Given the description of an element on the screen output the (x, y) to click on. 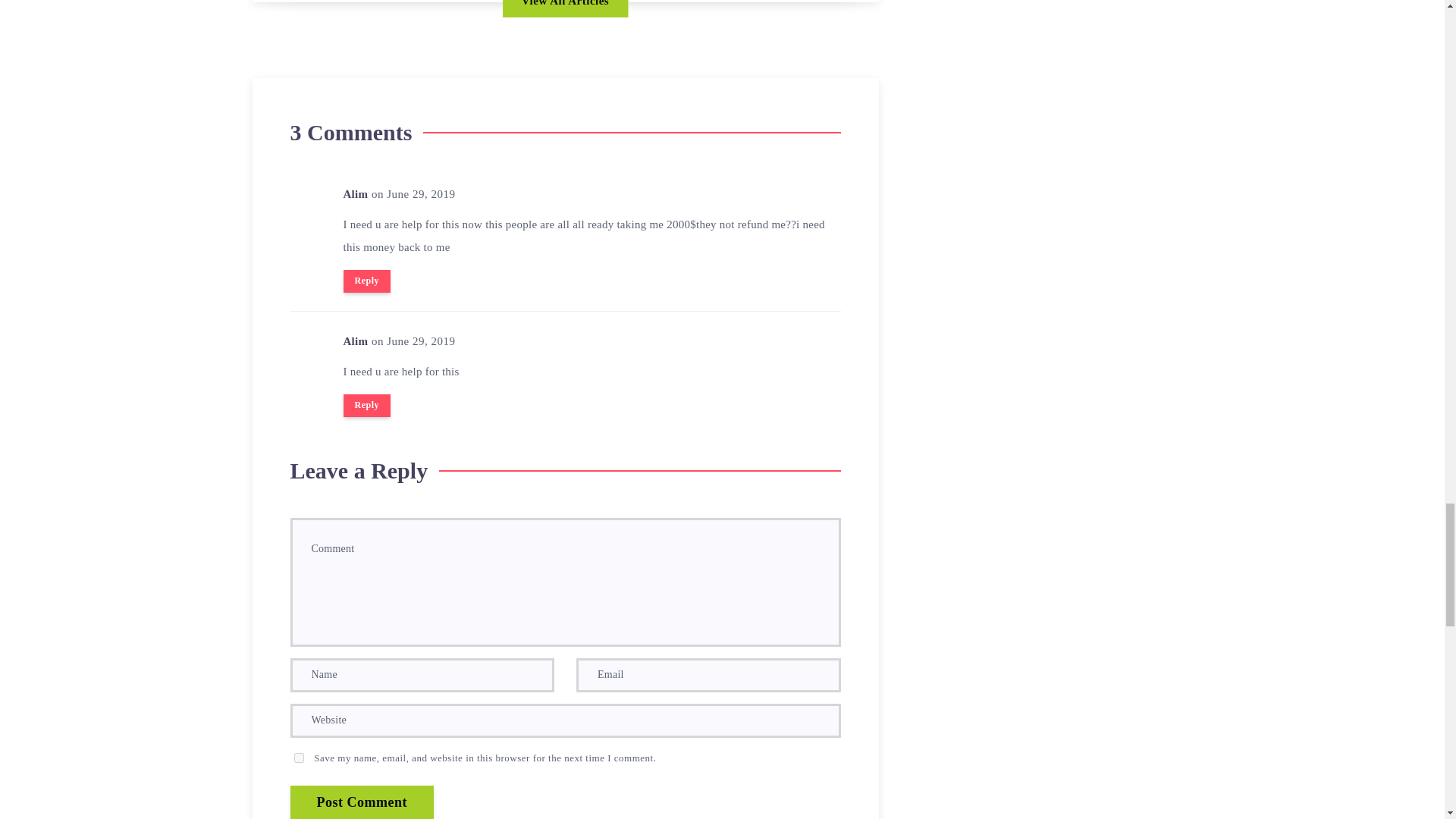
View All Articles (564, 8)
Post Comment (360, 802)
yes (299, 757)
